Given the description of an element on the screen output the (x, y) to click on. 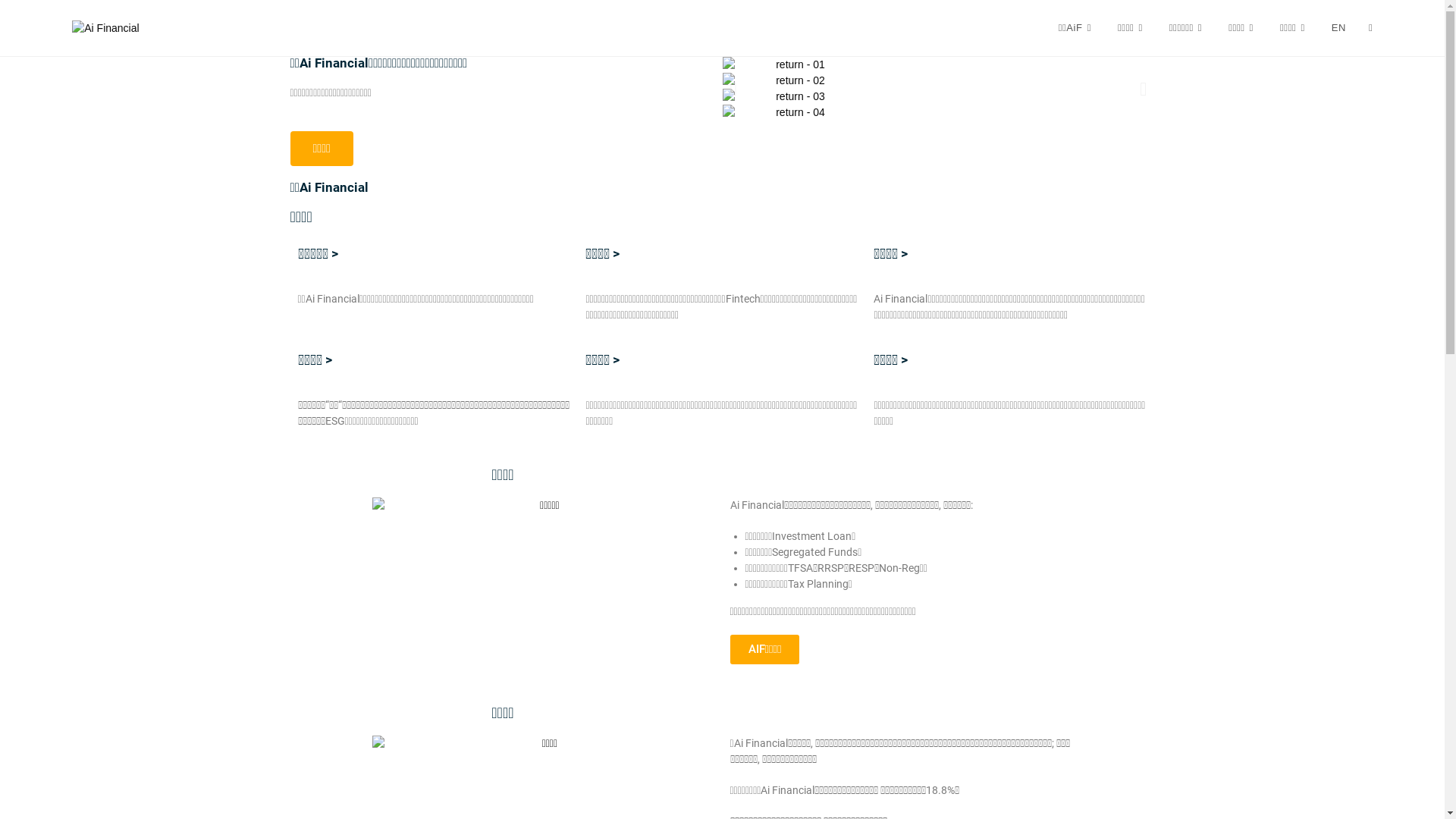
EN Element type: text (1338, 28)
